Given the description of an element on the screen output the (x, y) to click on. 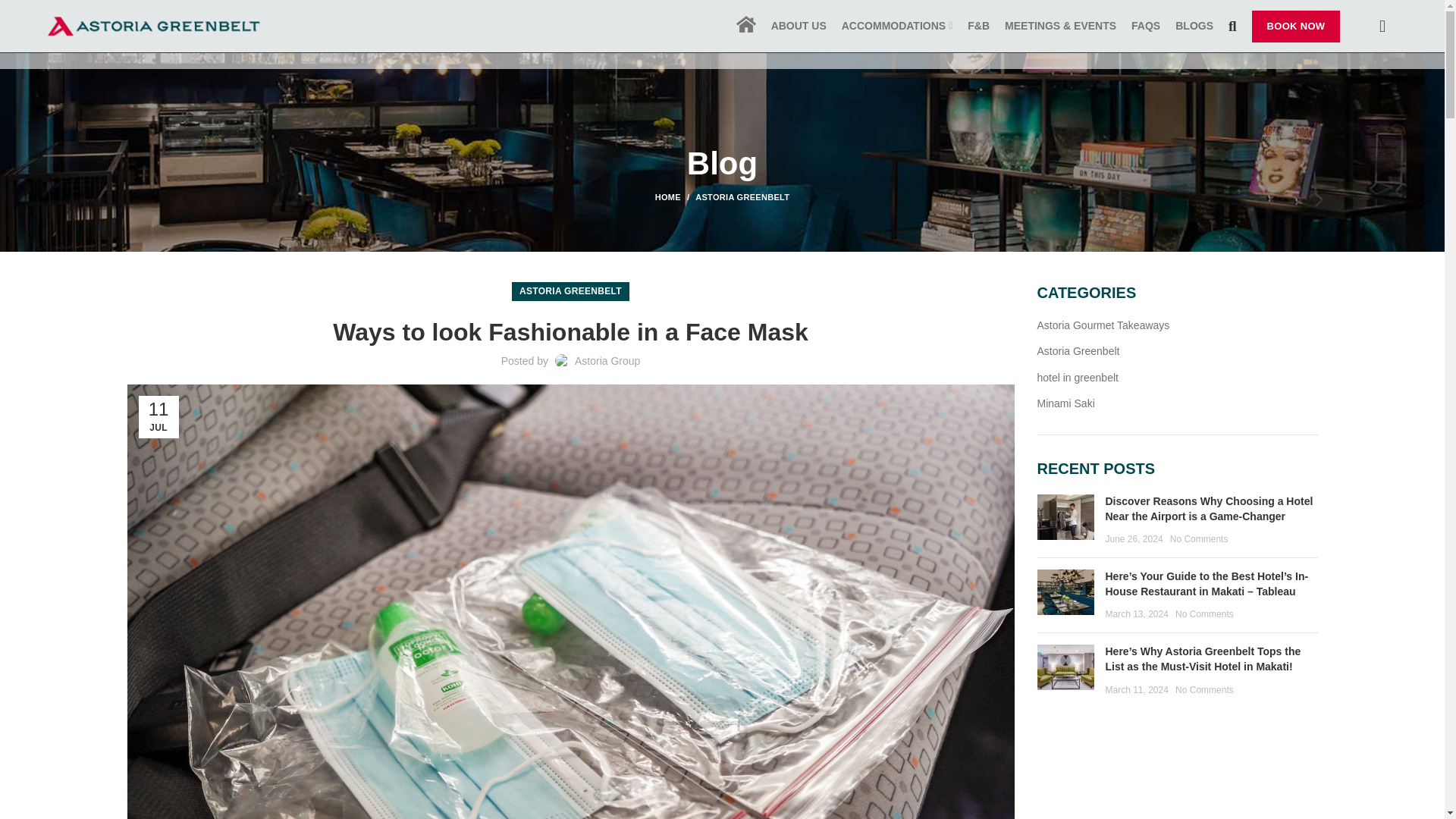
HOME (675, 196)
ASTORIA GREENBELT (742, 196)
Search (1232, 25)
ABOUT US (798, 25)
07f4ad48-2cbe-4430-ae31-df2ff25205bc (1065, 667)
BOOK NOW (1296, 26)
FAQS (1145, 25)
Astoria Group (607, 360)
ASTORIA GREENBELT (570, 291)
BLOGS (1194, 25)
ACCOMMODATIONS (897, 25)
